Given the description of an element on the screen output the (x, y) to click on. 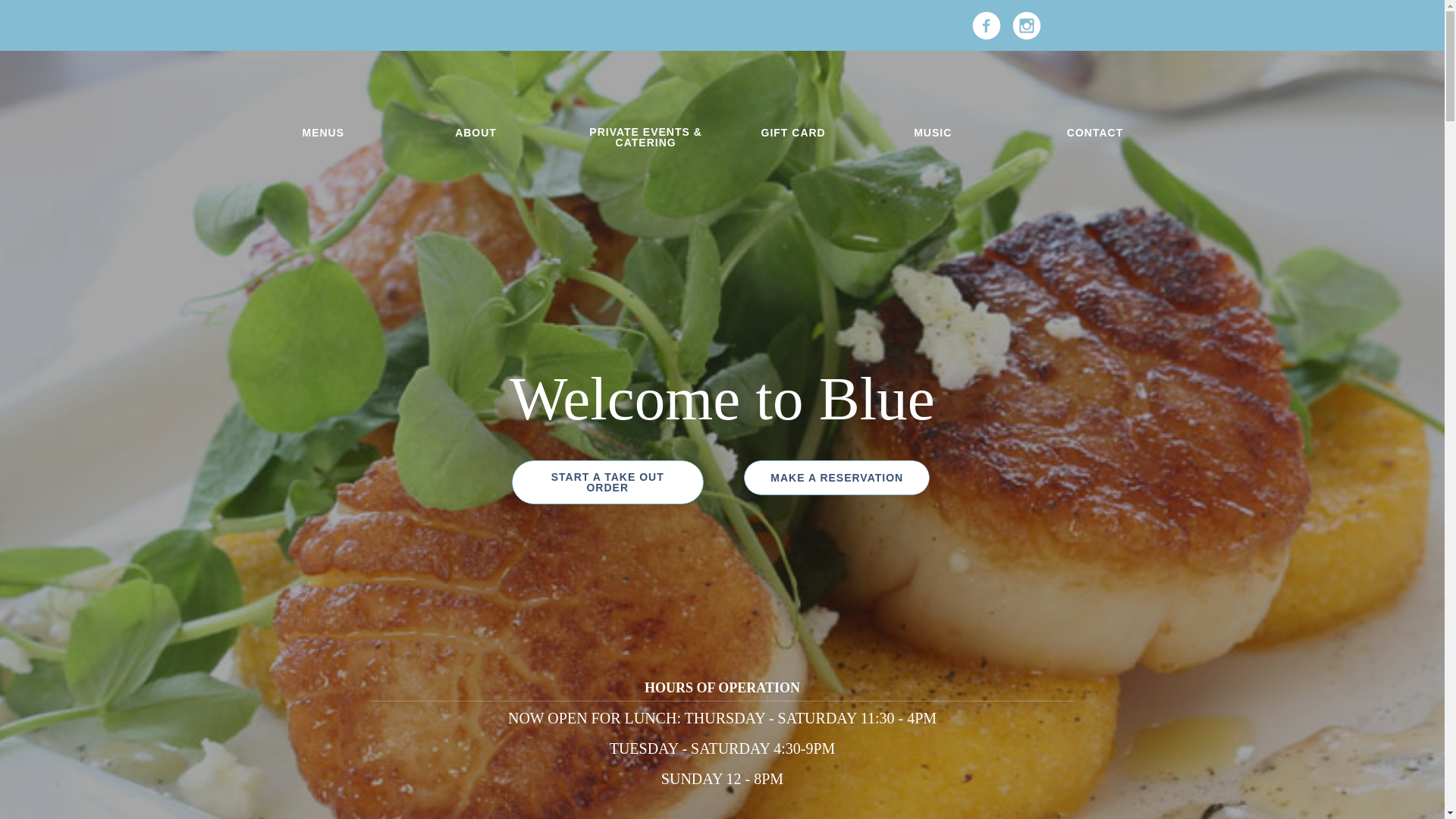
MAKE A RESERVATION (836, 477)
MENUS (323, 132)
CONTACT (1094, 132)
MUSIC (933, 132)
START A TAKE OUT ORDER (607, 482)
GIFT CARD (792, 132)
ABOUT (475, 132)
